Given the description of an element on the screen output the (x, y) to click on. 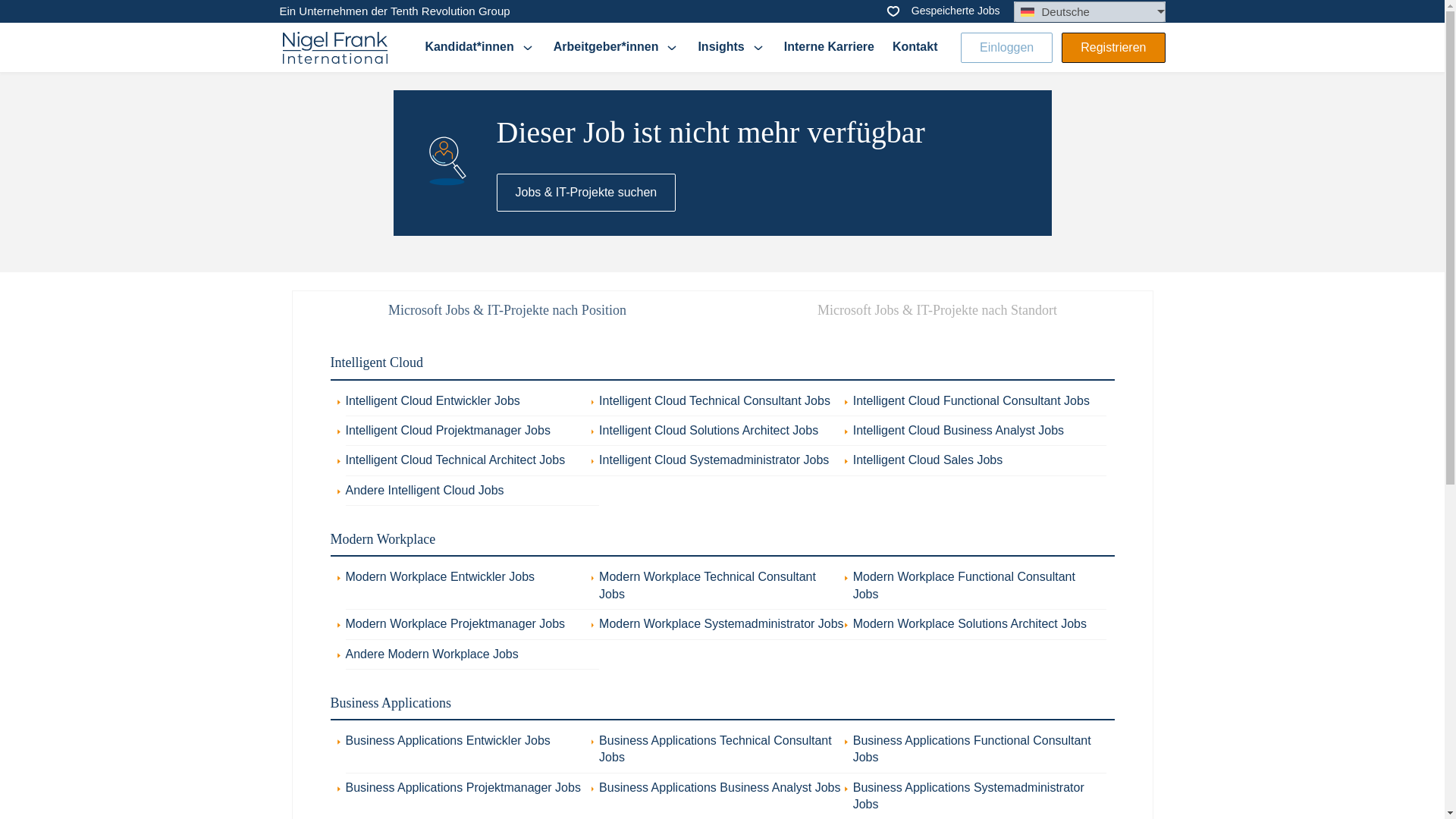
Gespeicherte Jobs (941, 11)
Registrieren (1112, 46)
Insights (731, 47)
Nigel Frank International (333, 47)
Intelligent Cloud Projektmanager Jobs (448, 430)
Intelligent Cloud Functional Consultant Jobs (971, 400)
Deutsche (1088, 11)
Einloggen (1006, 46)
Nigel Frank International (333, 47)
Intelligent Cloud Technical Consultant Jobs (713, 400)
